Given the description of an element on the screen output the (x, y) to click on. 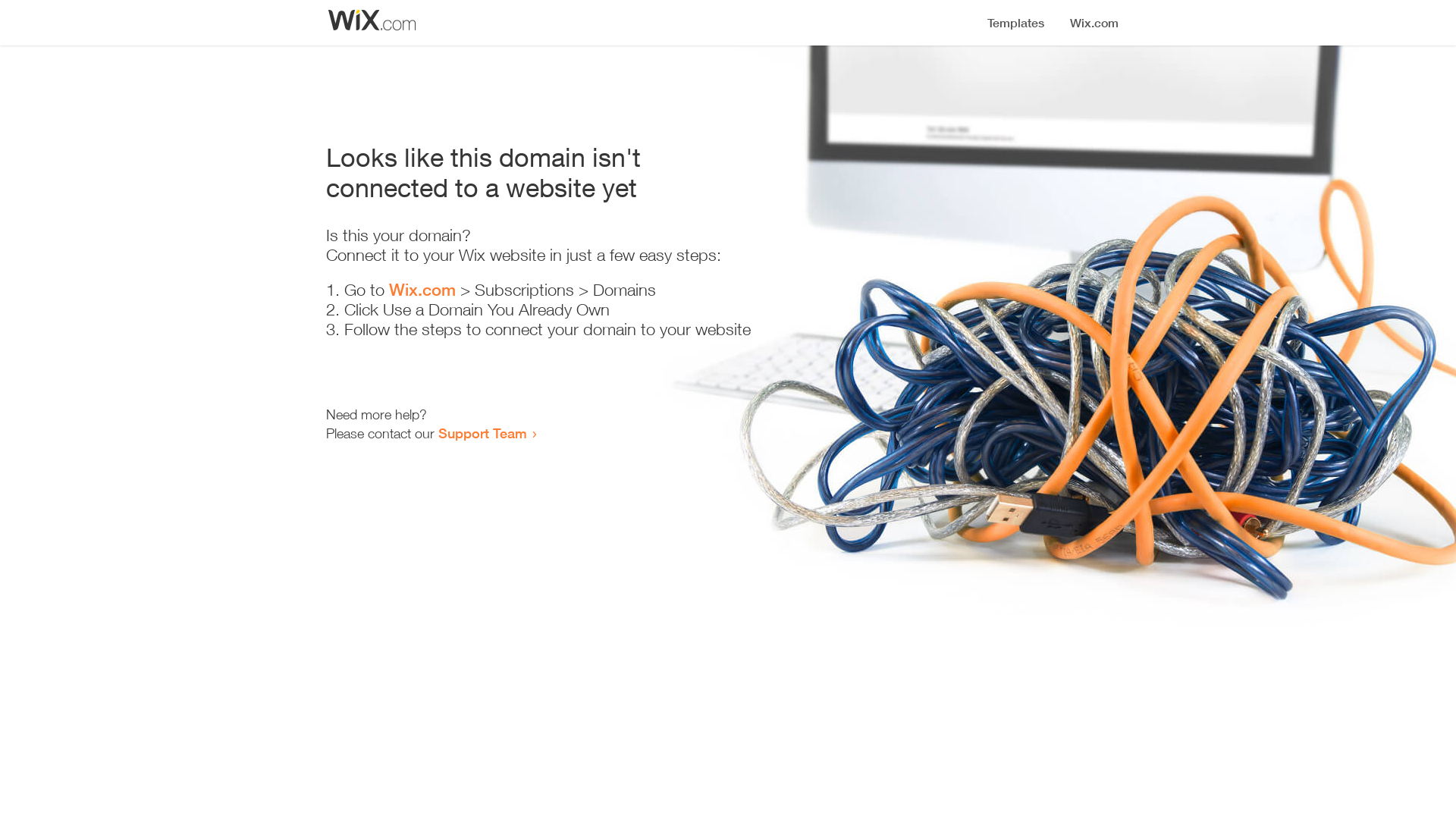
Support Team Element type: text (482, 432)
Wix.com Element type: text (422, 289)
